Given the description of an element on the screen output the (x, y) to click on. 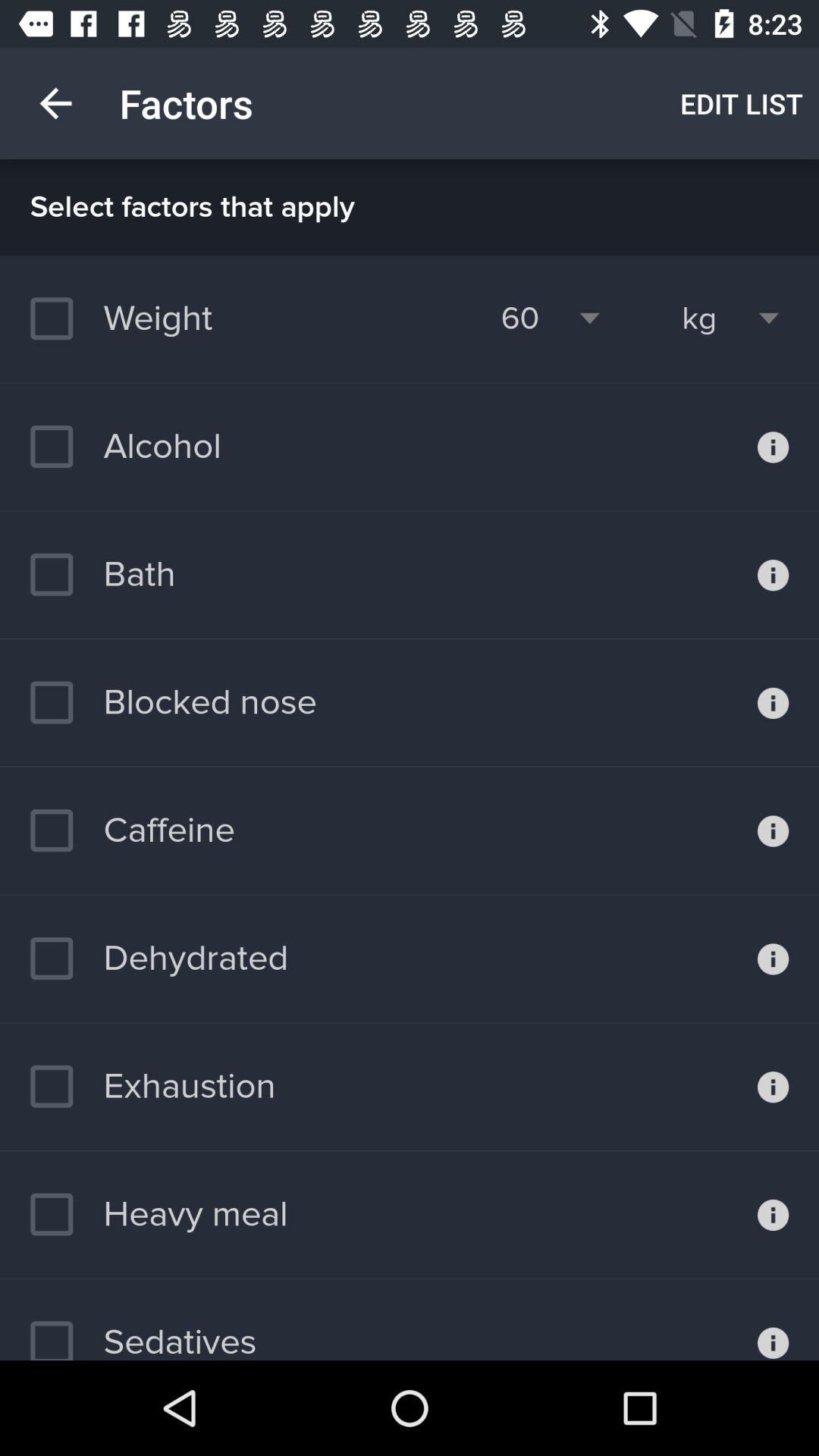
information on exhaustion factor (773, 1086)
